Given the description of an element on the screen output the (x, y) to click on. 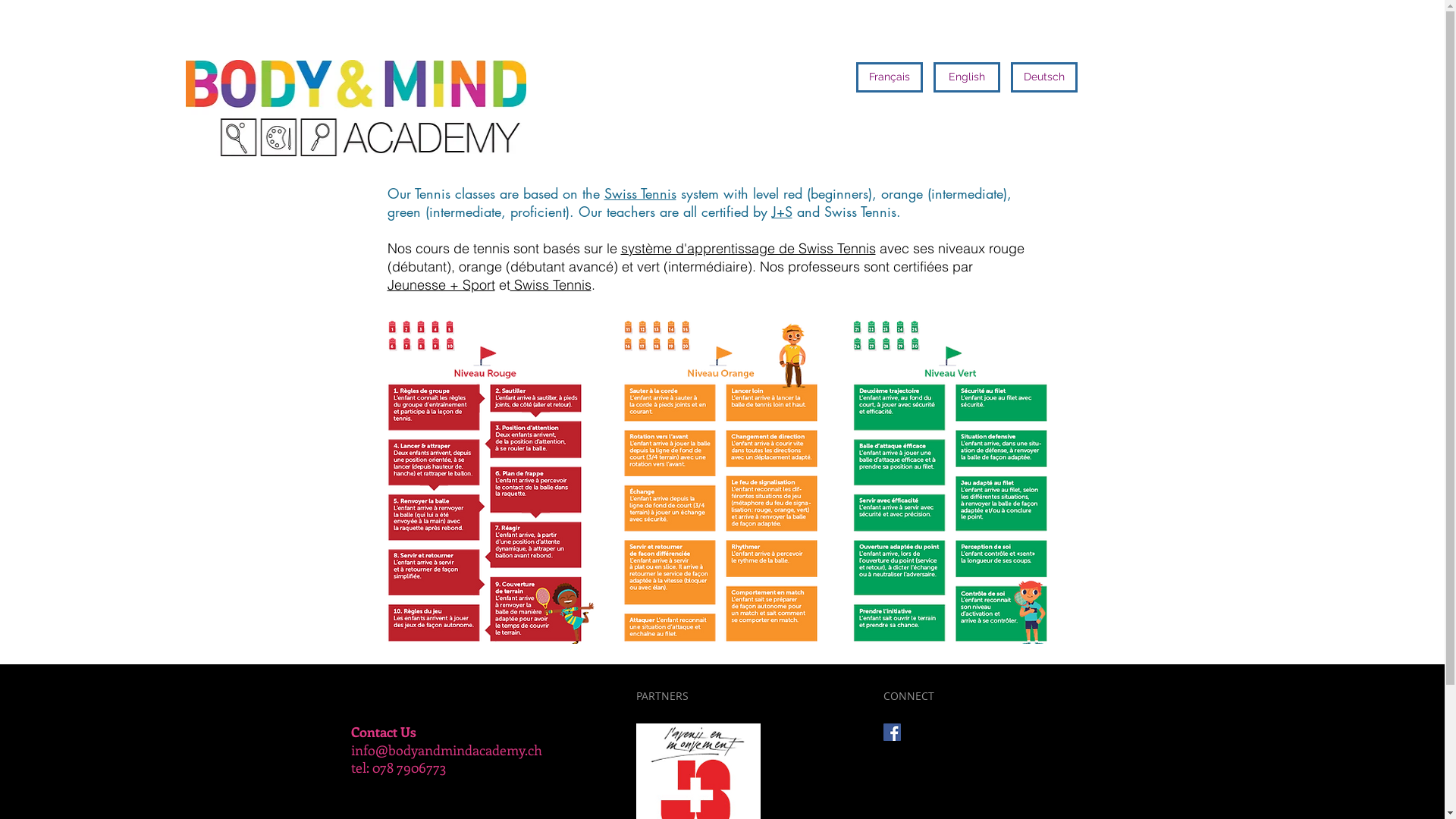
info@bodyandmindacademy.ch Element type: text (445, 749)
Swiss Tennis Element type: text (639, 193)
J+S Element type: text (781, 211)
English Element type: text (965, 77)
Deutsch Element type: text (1043, 77)
Jeunesse + Sport Element type: text (440, 284)
Swiss Tennis Element type: text (549, 284)
